Given the description of an element on the screen output the (x, y) to click on. 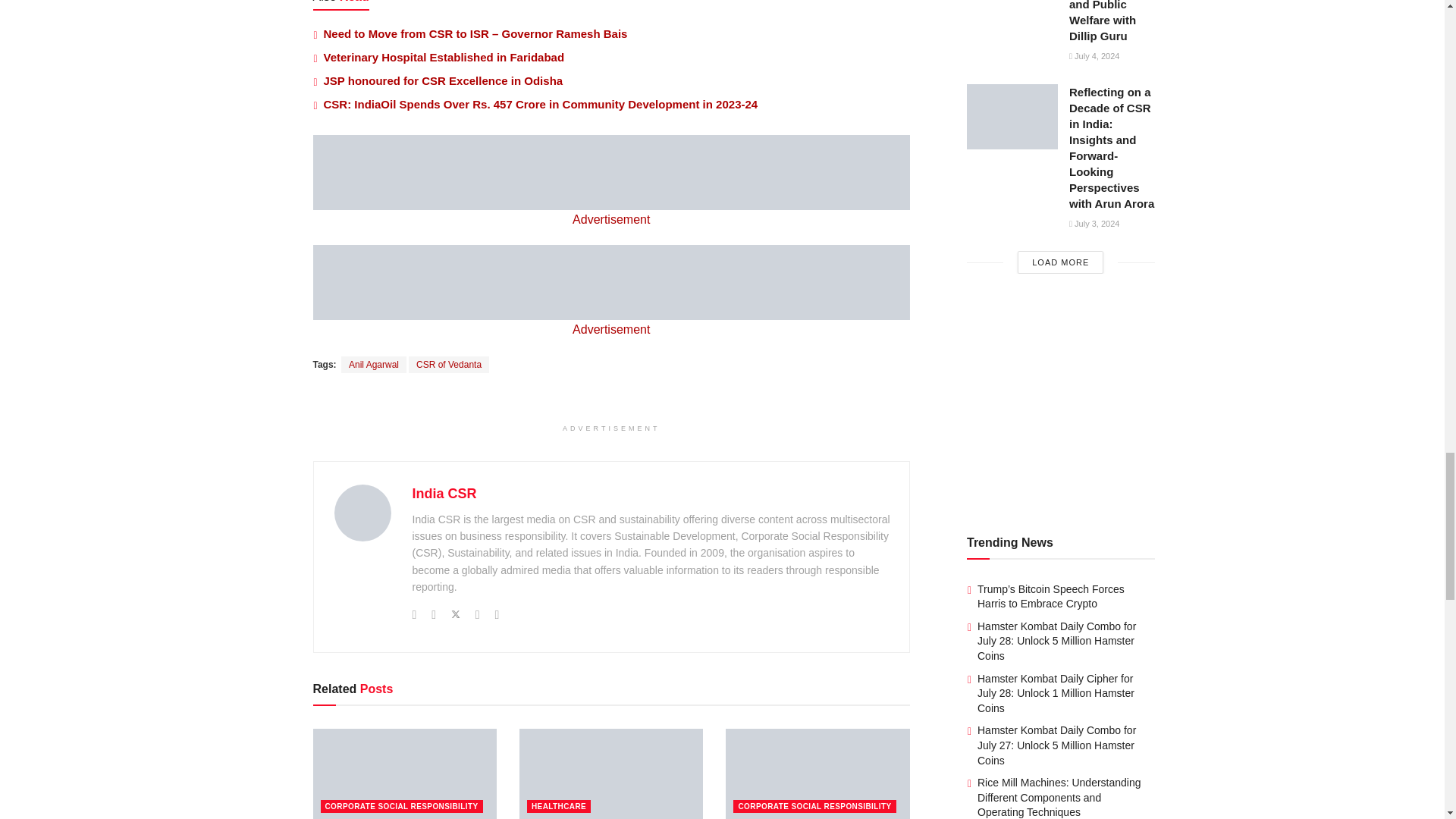
JSP honoured for CSR Excellence in Odisha 6 (816, 773)
Veterinary Hospital Established in Faridabad 5 (611, 773)
Need to Move from CSR to ISR - Governor Ramesh Bais 4 (404, 773)
